Given the description of an element on the screen output the (x, y) to click on. 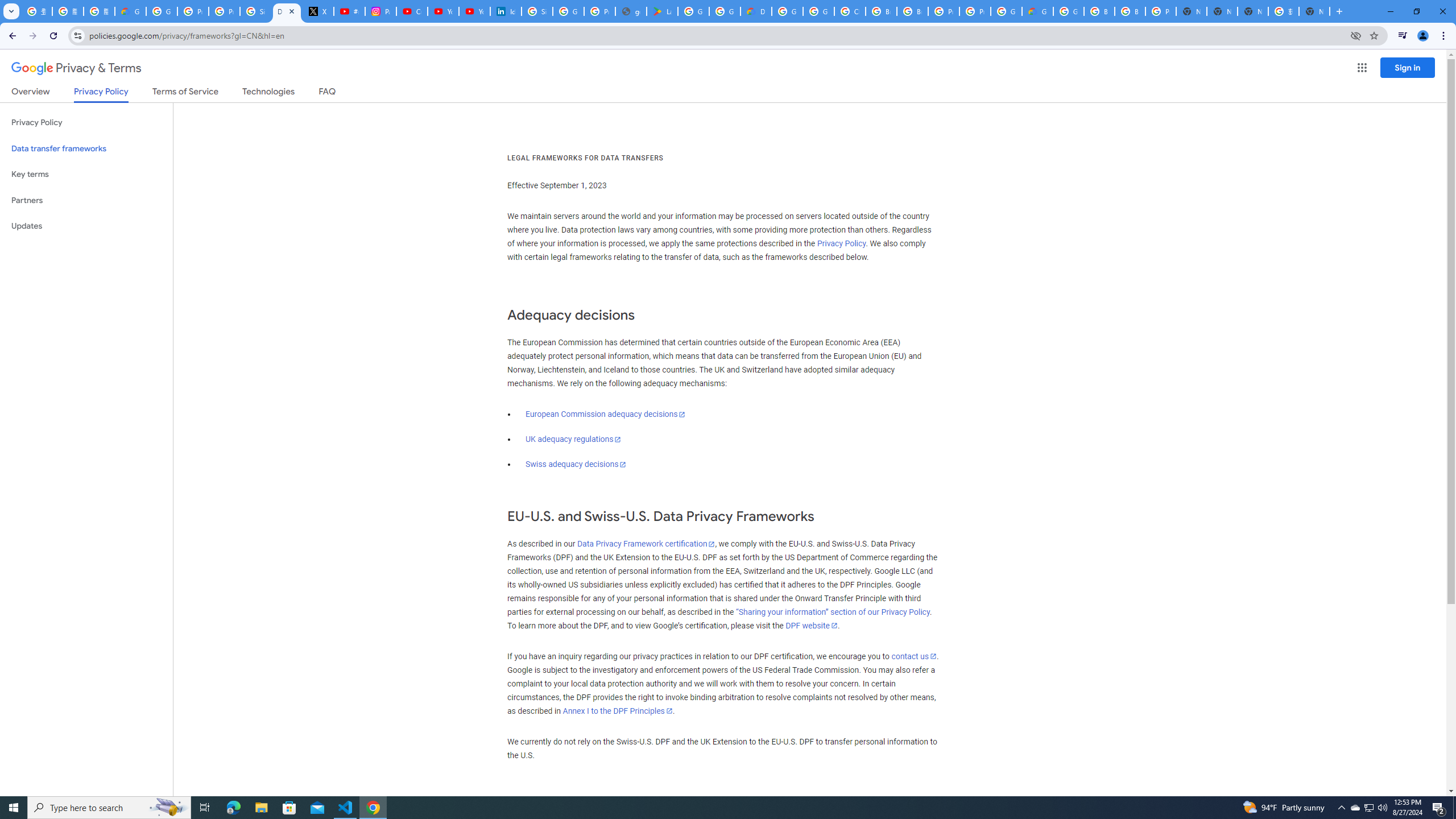
Browse Chrome as a guest - Computer - Google Chrome Help (1098, 11)
Last Shelter: Survival - Apps on Google Play (662, 11)
Partners (86, 199)
